Given the description of an element on the screen output the (x, y) to click on. 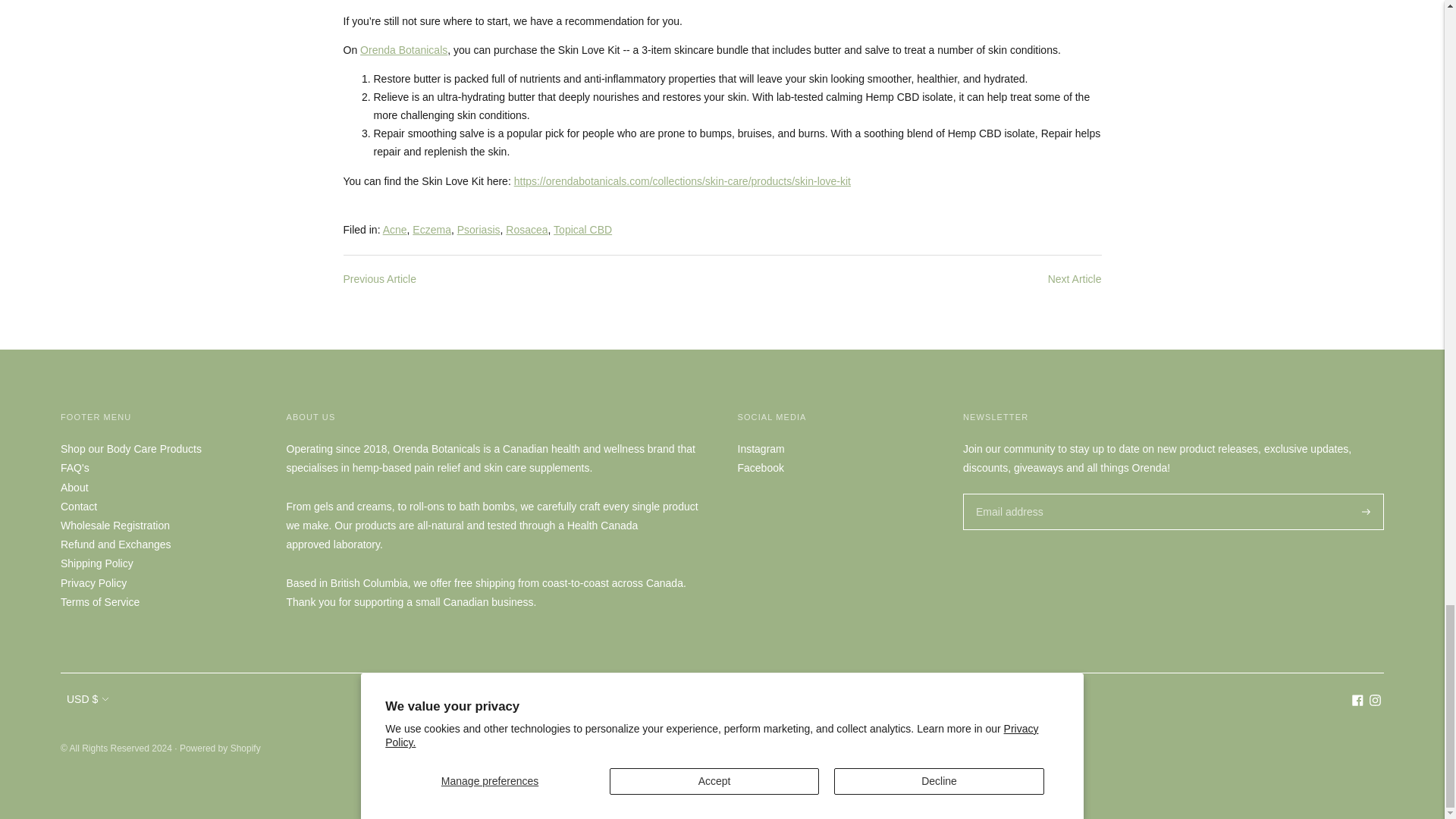
Orenda Botanicals on Facebook (1357, 702)
Orenda Botanicals on Instagram (1375, 702)
